Given the description of an element on the screen output the (x, y) to click on. 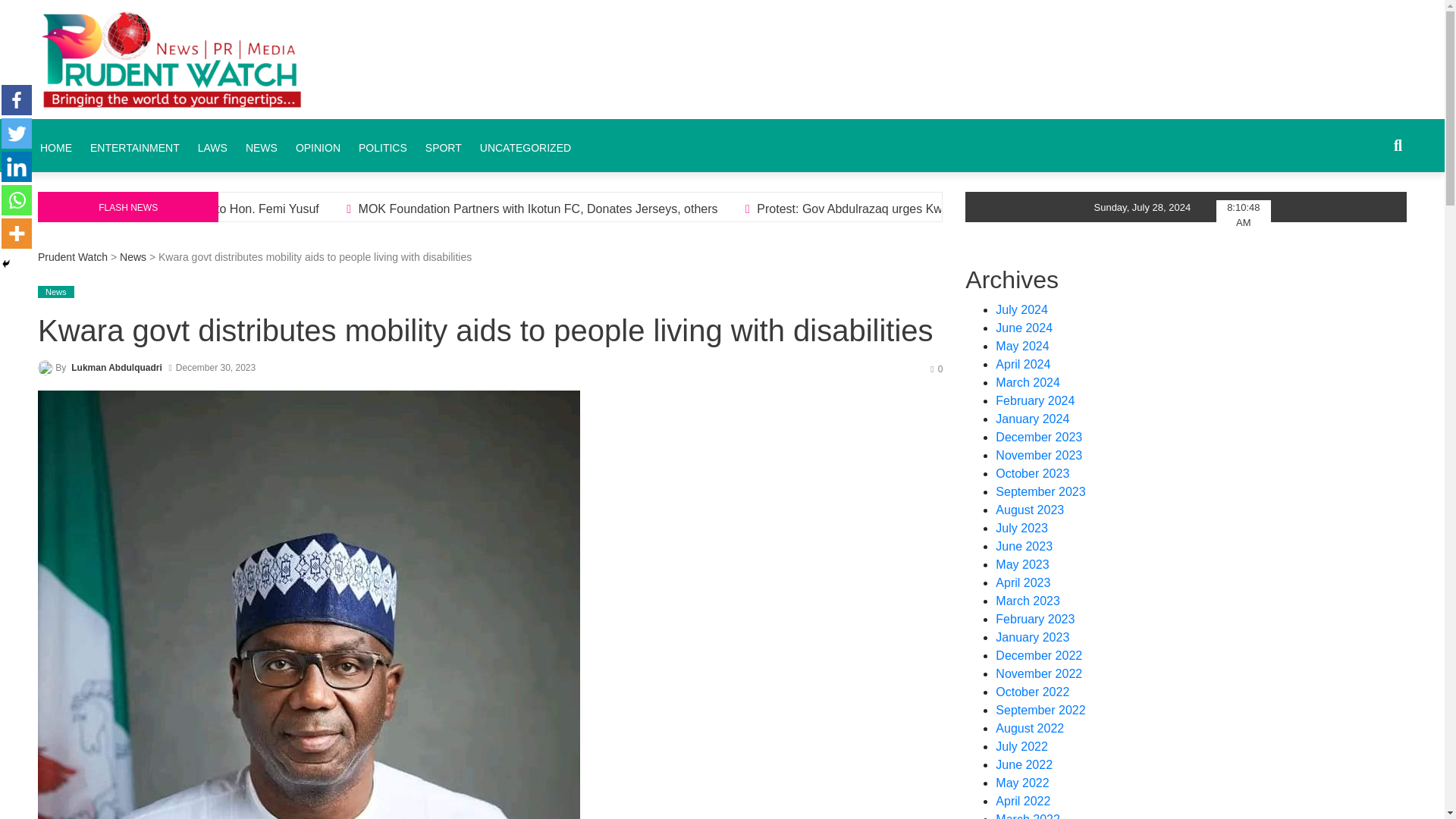
Facebook (16, 100)
UNCATEGORIZED (525, 147)
Prudent Watch (485, 18)
ENTERTAINMENT (134, 147)
OPINION (317, 147)
SPORT (443, 147)
LAWS (212, 147)
NEWS (262, 147)
HOME (55, 147)
POLITICS (382, 147)
